Given the description of an element on the screen output the (x, y) to click on. 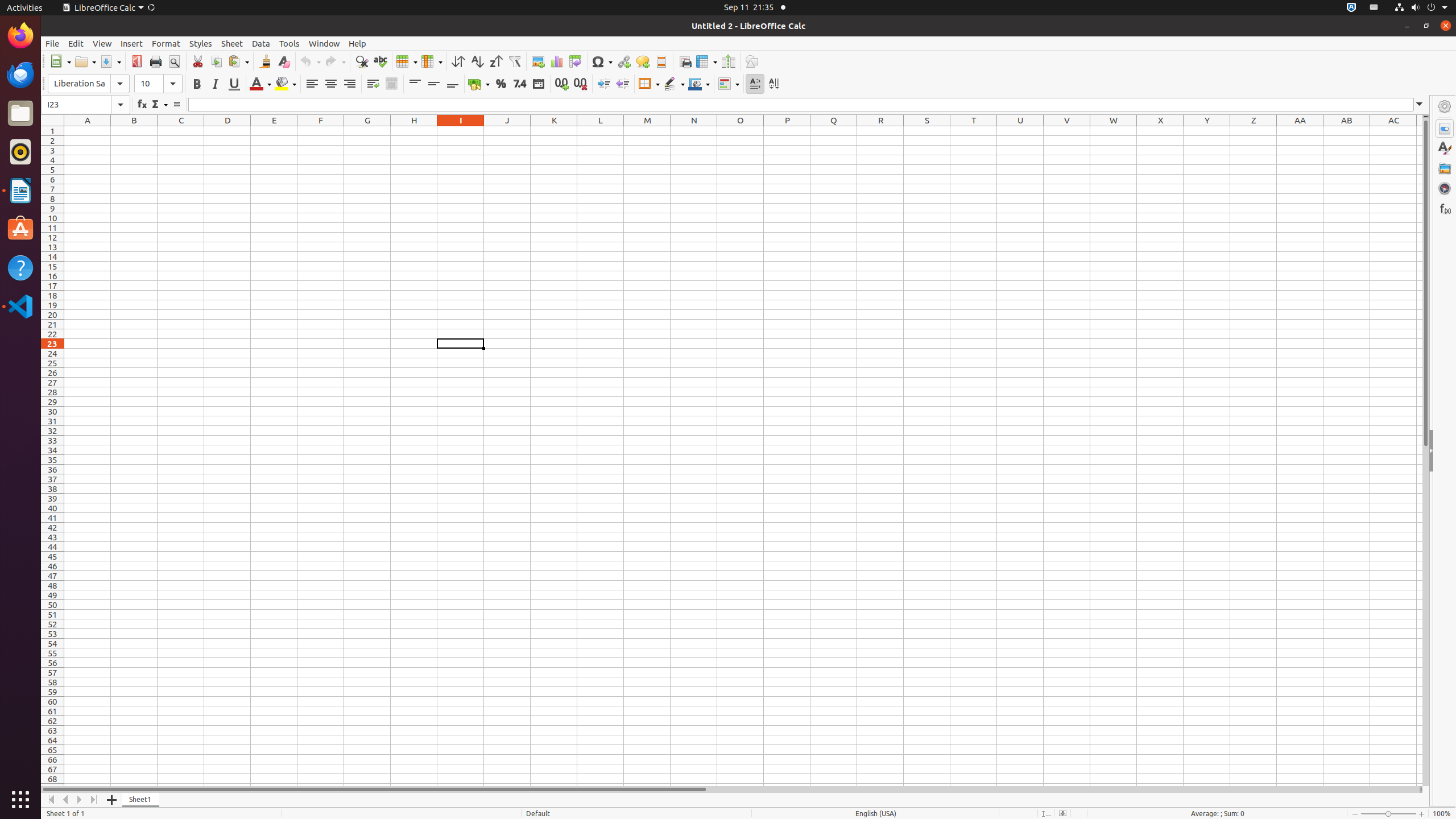
Number Element type: push-button (519, 83)
Conditional Element type: push-button (728, 83)
Name Box Element type: panel (85, 104)
Date Element type: push-button (537, 83)
L1 Element type: table-cell (600, 130)
